Given the description of an element on the screen output the (x, y) to click on. 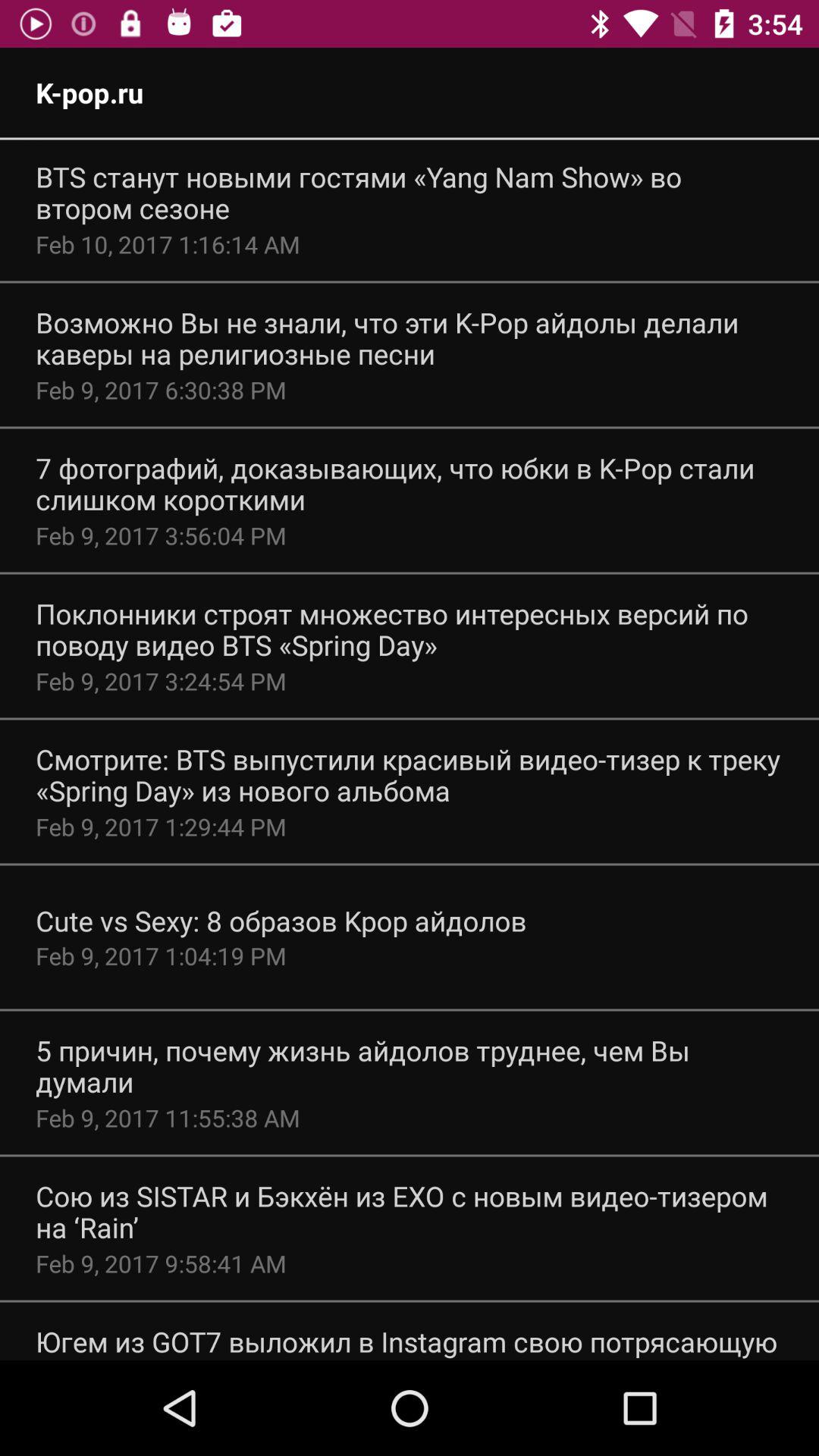
launch the cute vs sexy (280, 920)
